Given the description of an element on the screen output the (x, y) to click on. 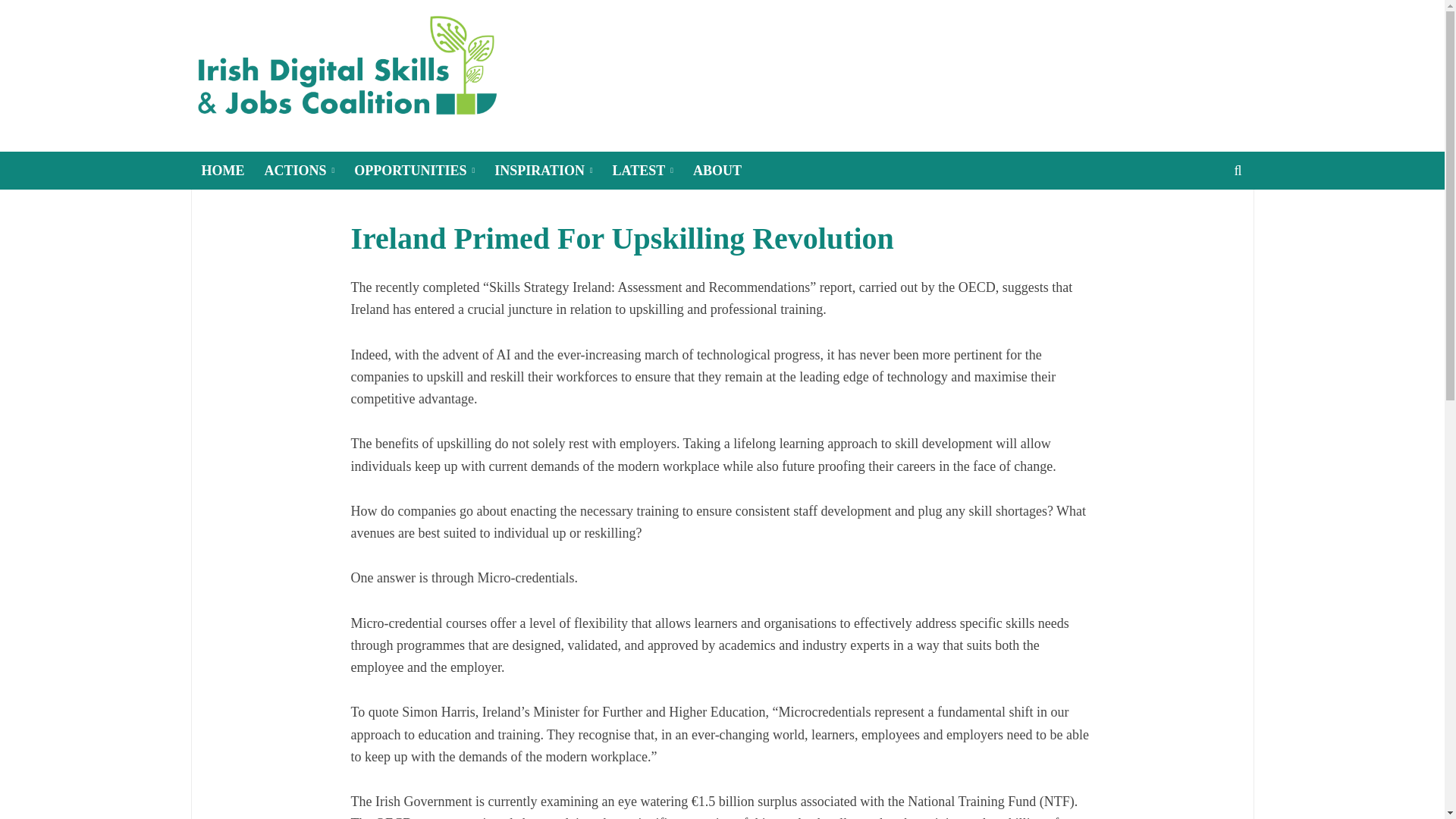
OPPORTUNITIES (413, 170)
INSPIRATION (543, 170)
LATEST (642, 170)
ABOUT (716, 170)
HOME (221, 170)
ACTIONS (299, 170)
